Given the description of an element on the screen output the (x, y) to click on. 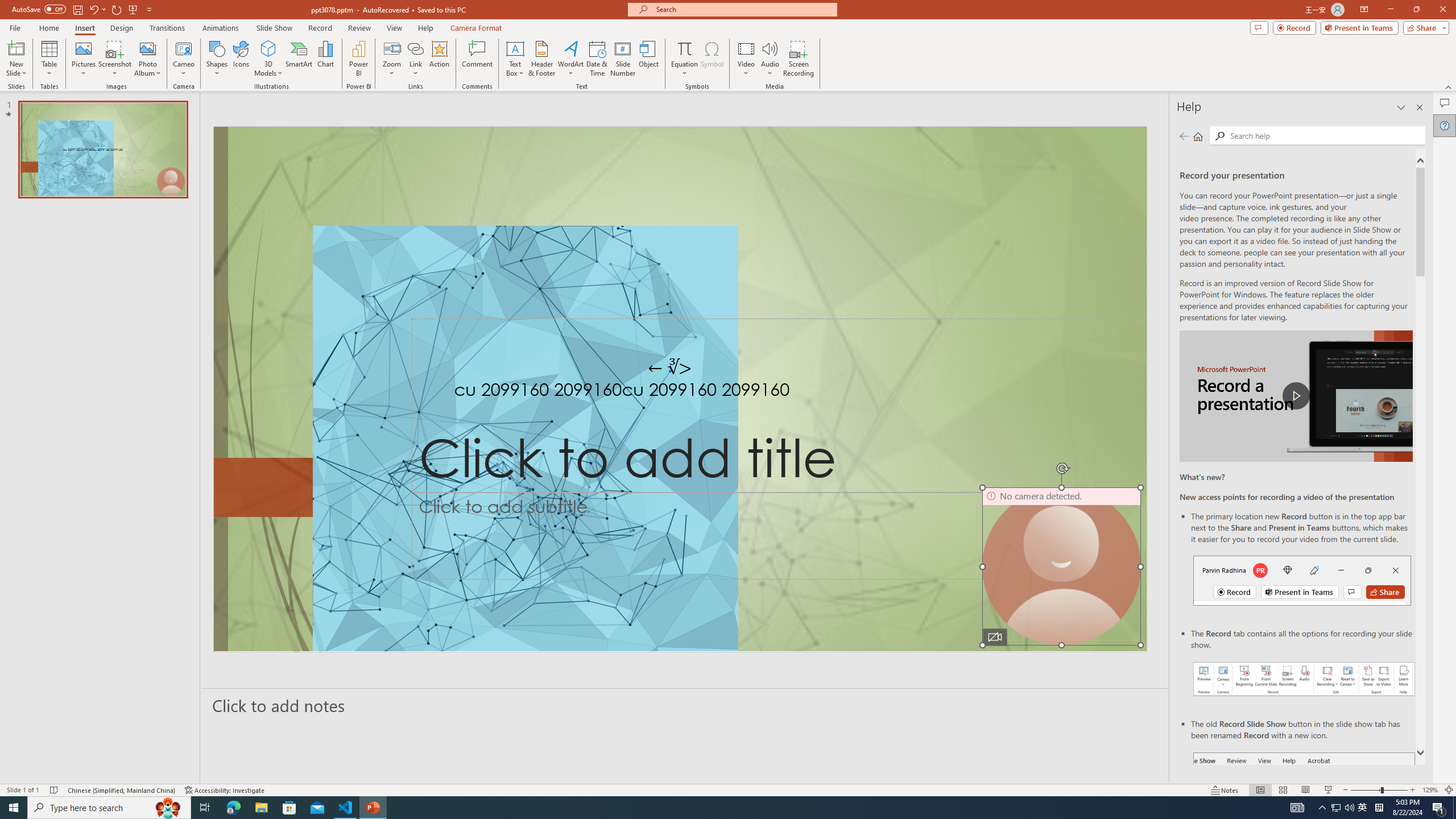
SmartArt... (298, 58)
Camera Format (475, 28)
Zoom 129% (1430, 790)
Slide Number (622, 58)
Action (439, 58)
TextBox 7 (670, 367)
3D Models (268, 48)
